Given the description of an element on the screen output the (x, y) to click on. 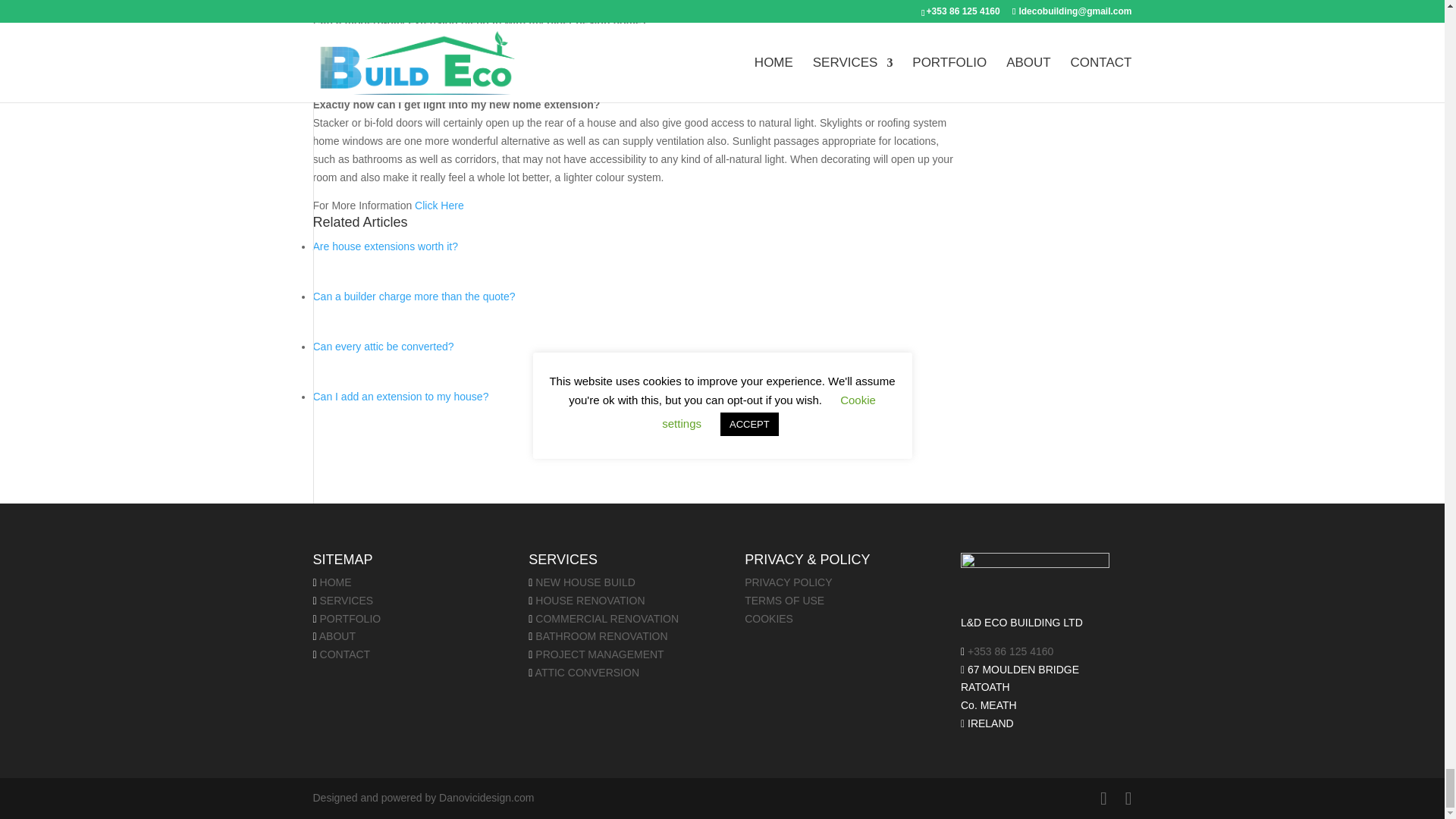
Can a builder charge more than the quote? (414, 296)
Can every attic be converted? (382, 346)
Are house extensions worth it? (385, 246)
Can every attic be converted? (382, 346)
Are house extensions worth it? (385, 246)
Click Here (439, 205)
Can I add an extension to my house? (400, 396)
Can a builder charge more than the quote? (414, 296)
